Given the description of an element on the screen output the (x, y) to click on. 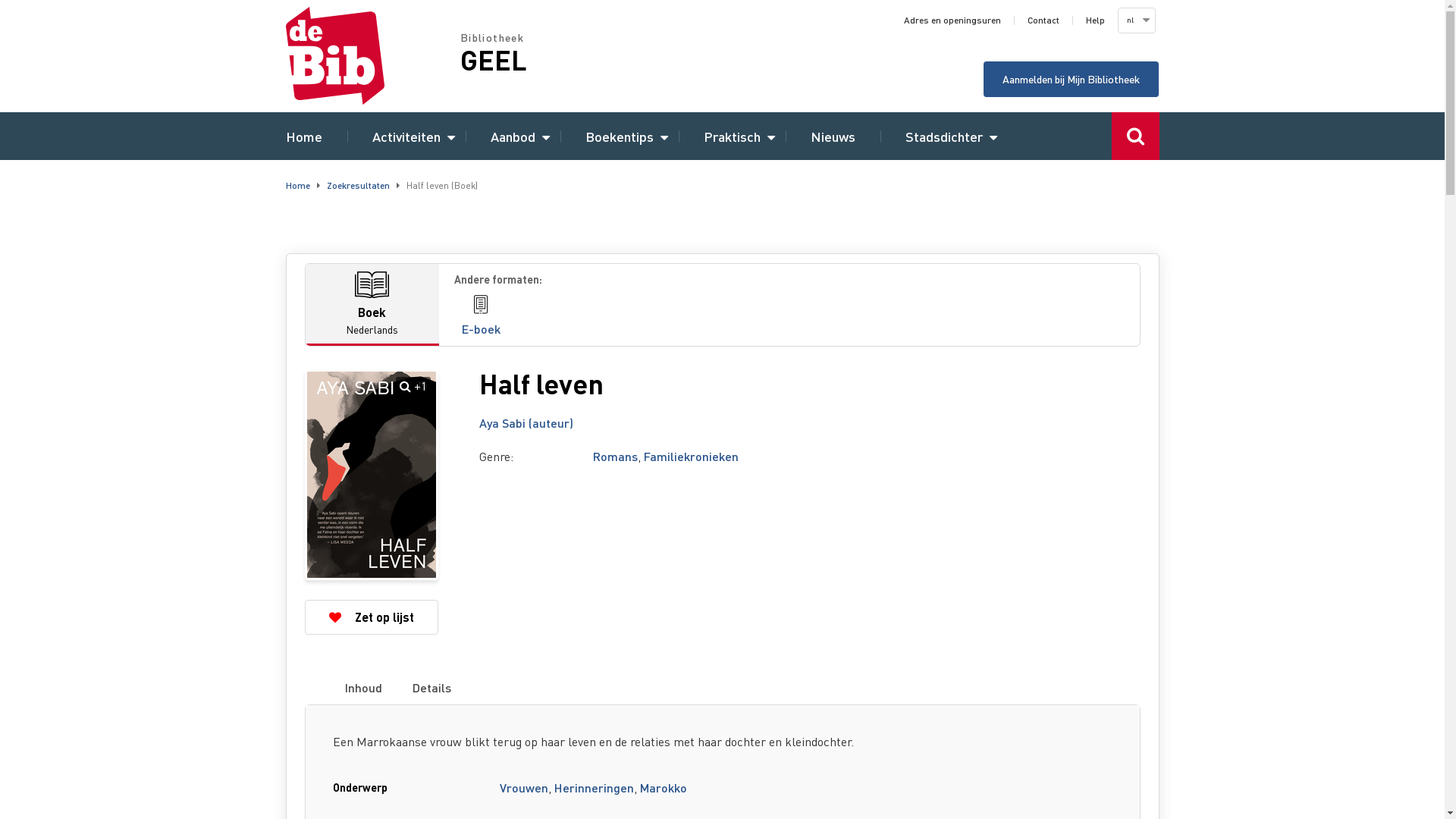
Adres en openingsuren Element type: text (952, 20)
Familiekronieken Element type: text (690, 456)
Home Element type: text (303, 136)
Romans Element type: text (615, 456)
Inhoud Element type: text (363, 687)
Zoekresultaten Element type: text (357, 185)
Aanmelden bij Mijn Bibliotheek Element type: text (1070, 79)
Home Element type: text (297, 185)
Contact Element type: text (1042, 20)
Vrouwen Element type: text (523, 787)
Herinneringen Element type: text (593, 787)
Nieuws Element type: text (831, 136)
Overslaan en naar zoeken gaan Element type: text (0, 0)
Zet op lijst Element type: text (371, 616)
Toggle search Element type: hover (1135, 136)
Andere formaten Element type: text (788, 279)
Help Element type: text (1094, 20)
Aya Sabi (auteur) Element type: text (526, 422)
E-boek Element type: text (480, 316)
nl Element type: text (1134, 20)
Home Element type: hover (372, 55)
Details Element type: text (430, 687)
Marokko Element type: text (663, 787)
